Given the description of an element on the screen output the (x, y) to click on. 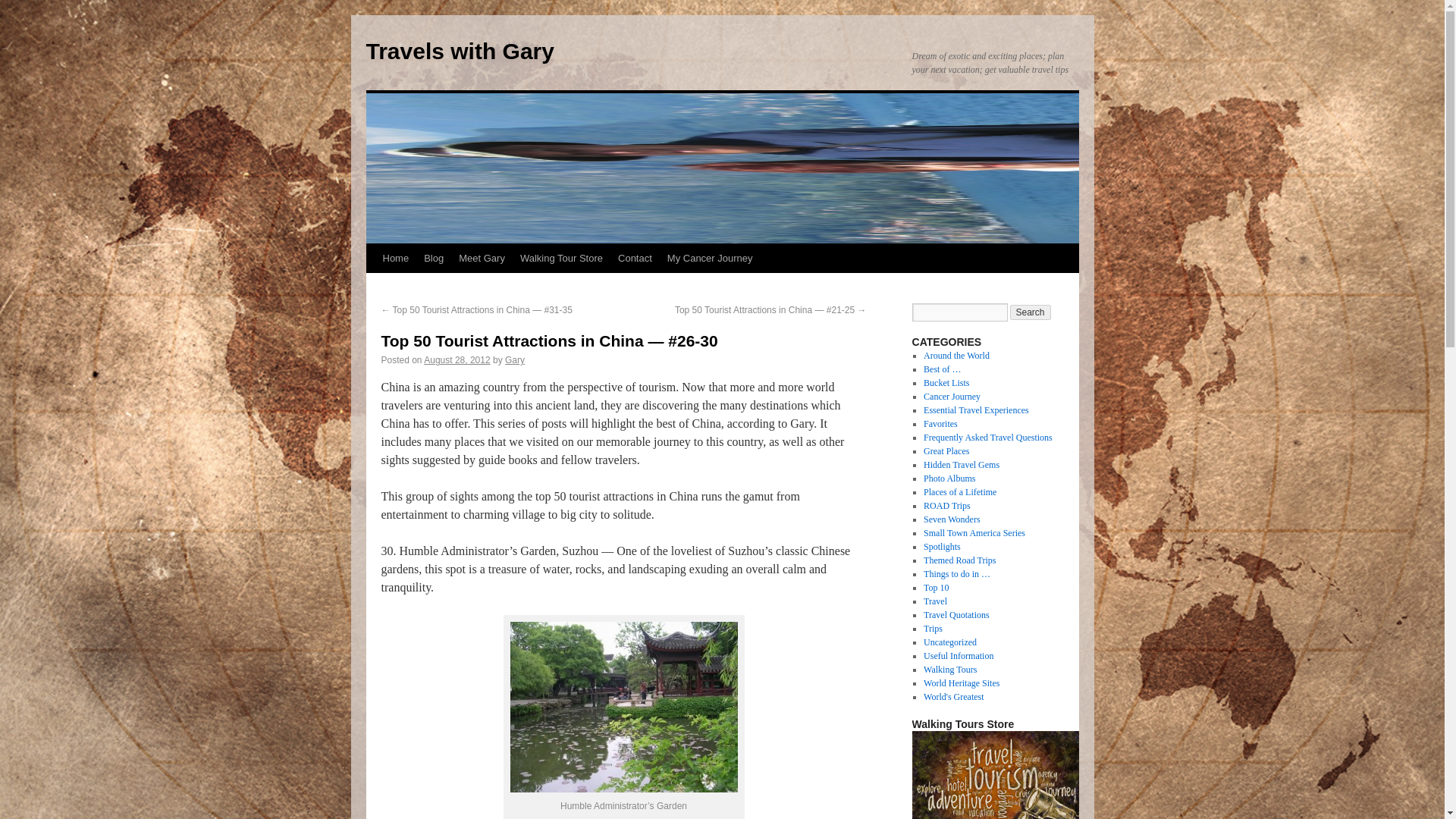
Seven Wonders (951, 519)
Travels with Gary (459, 50)
Spotlights (941, 546)
Places of a Lifetime (959, 491)
Search (1030, 312)
My Cancer Journey (709, 258)
Attractions beyond the typical (960, 464)
Around the World (956, 355)
Contact (634, 258)
Meet Gary (481, 258)
Great Places (946, 450)
Search (1030, 312)
7:04 am (456, 359)
Favorites (940, 423)
Small Town America Series (974, 532)
